Given the description of an element on the screen output the (x, y) to click on. 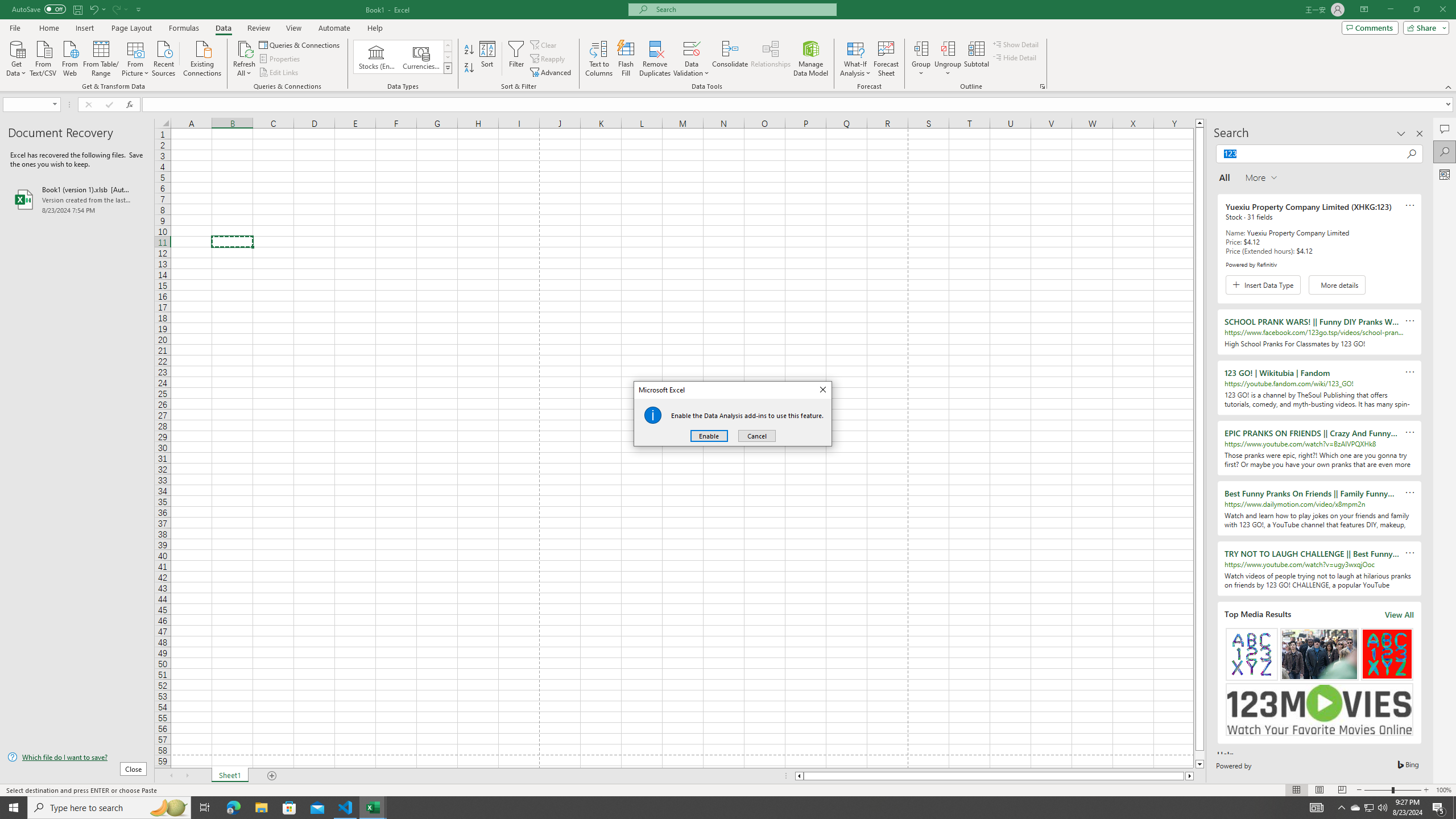
Task View (204, 807)
File Explorer (261, 807)
